Given the description of an element on the screen output the (x, y) to click on. 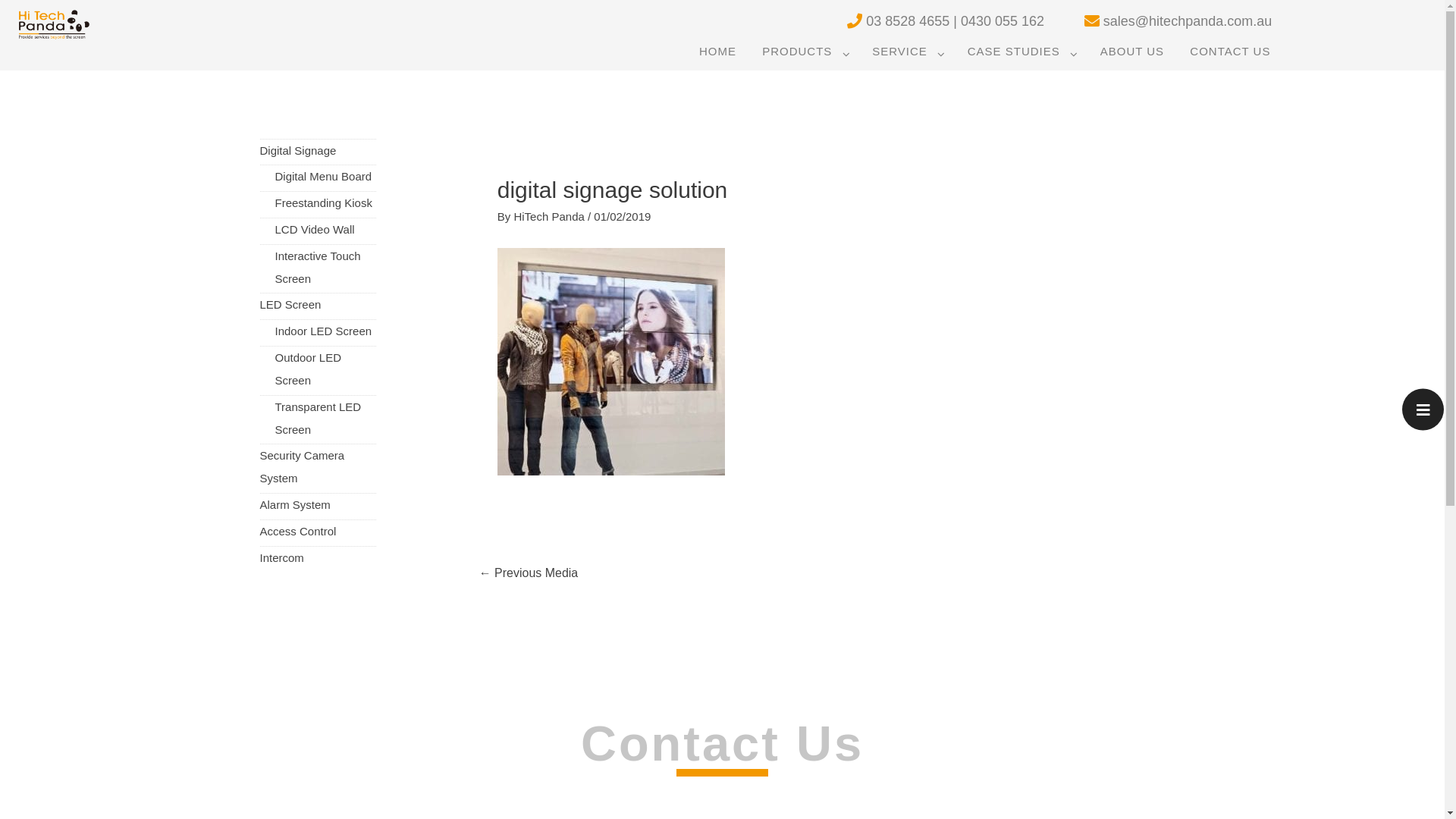
Security Camera System Element type: text (301, 466)
Intercom Element type: text (281, 557)
Alarm System Element type: text (294, 504)
sales@hitechpanda.com.au Element type: text (1157, 20)
Outdoor LED Screen Element type: text (307, 368)
Indoor LED Screen Element type: text (322, 330)
HOME Element type: text (717, 51)
CASE STUDIES Element type: text (1020, 51)
Freestanding Kiosk Element type: text (322, 202)
CONTACT US Element type: text (1229, 51)
SERVICE Element type: text (906, 51)
Digital Signage Element type: text (297, 150)
Digital Menu Board Element type: text (322, 175)
03 8528 4655 | 0430 055 162 Element type: text (931, 20)
Transparent LED Screen Element type: text (317, 418)
Access Control Element type: text (297, 530)
Interactive Touch Screen Element type: text (317, 267)
LED Screen Element type: text (289, 304)
LCD Video Wall Element type: text (314, 228)
PRODUCTS Element type: text (803, 51)
HiTech Panda Element type: text (550, 216)
ABOUT US Element type: text (1131, 51)
